Given the description of an element on the screen output the (x, y) to click on. 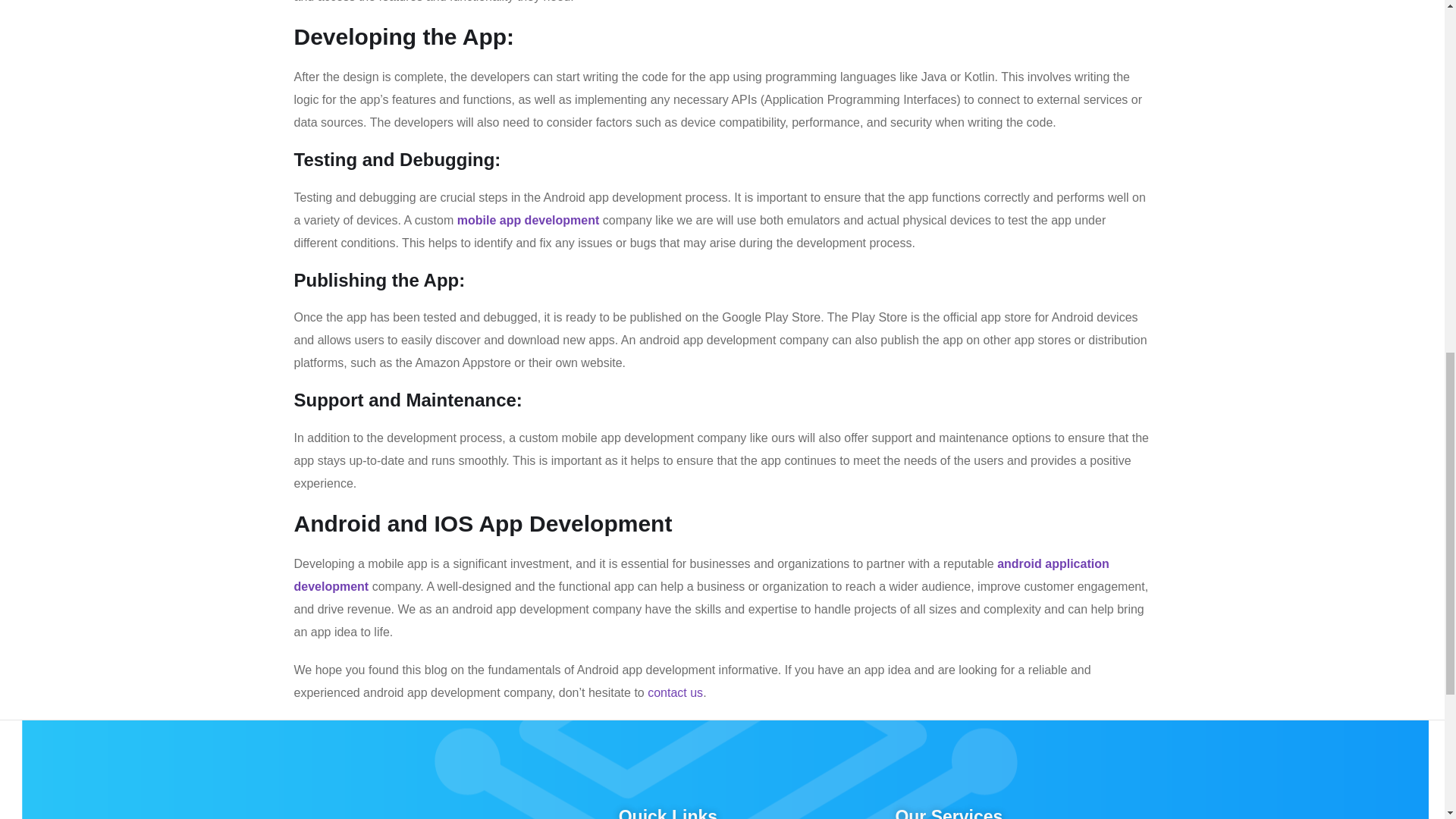
android application development (701, 574)
contact us (675, 692)
mobile app development (528, 219)
